Given the description of an element on the screen output the (x, y) to click on. 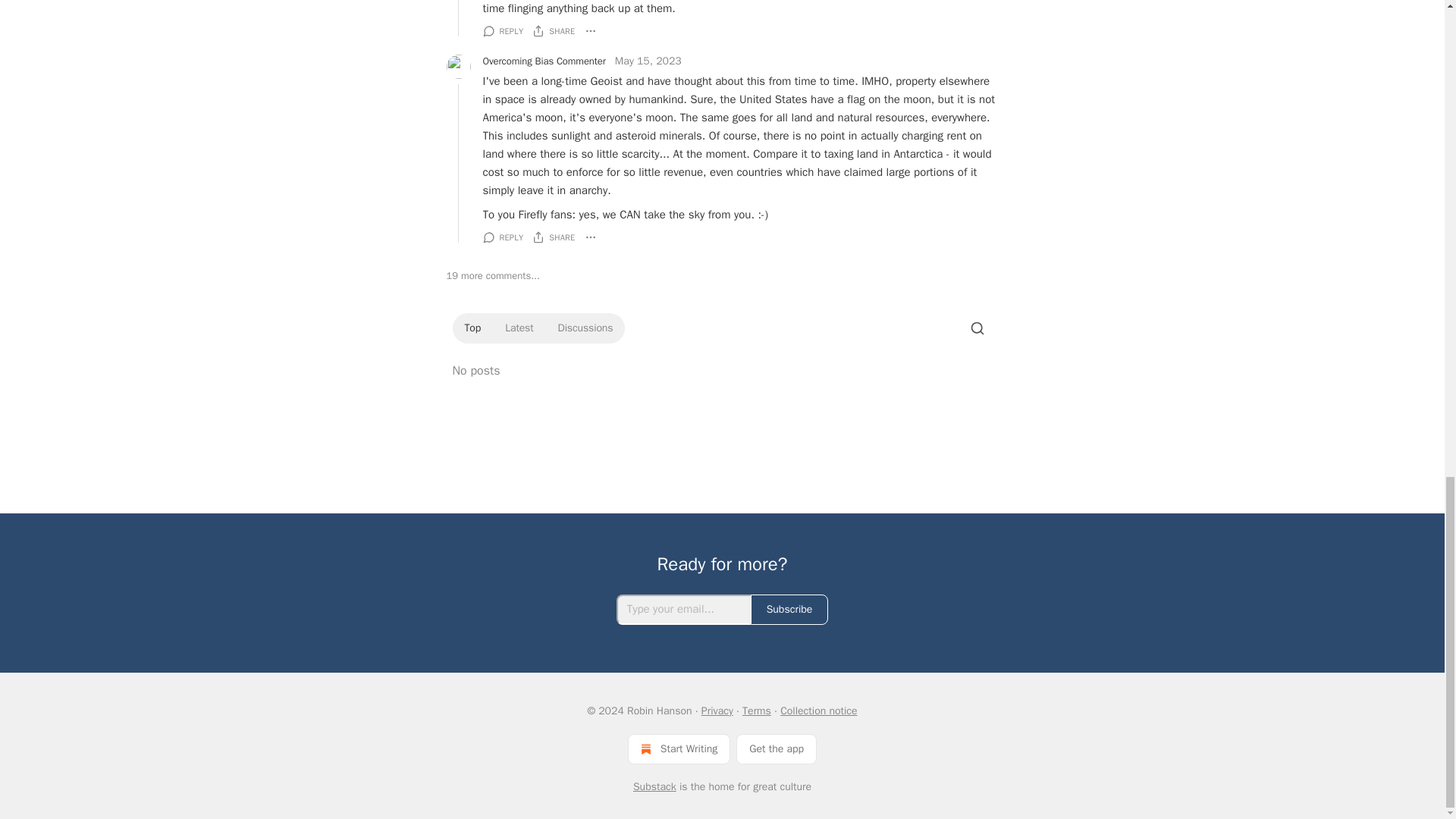
May 15, 2023 (647, 61)
REPLY (501, 30)
SHARE (553, 30)
Overcoming Bias Commenter (543, 61)
